Given the description of an element on the screen output the (x, y) to click on. 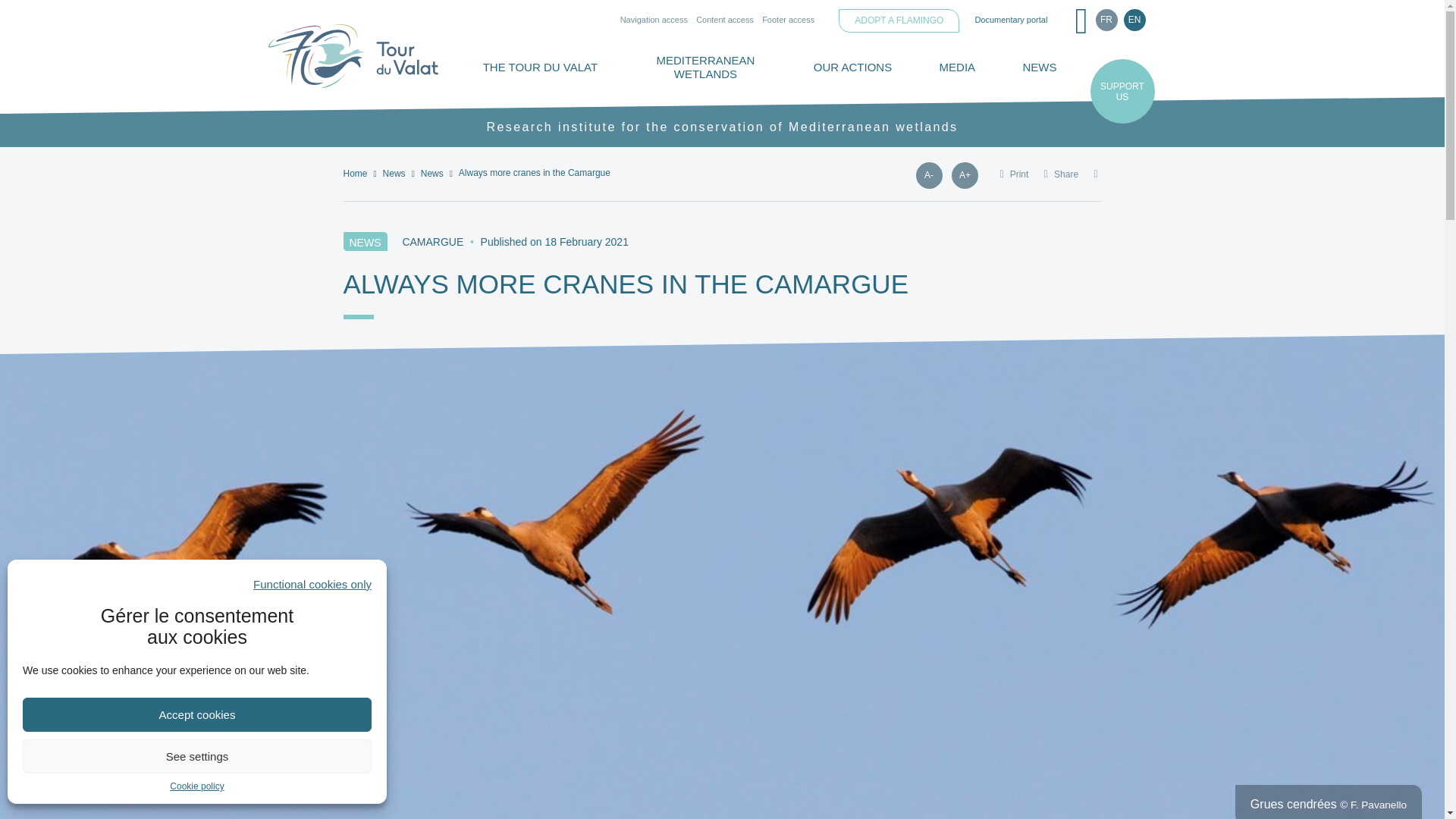
Footer access (787, 19)
Accept cookies (197, 714)
See settings (197, 756)
Content access (724, 19)
Imprimer (1012, 181)
Cookie policy (197, 786)
Show the page Tour du Valat. (354, 172)
THE TOUR DU VALAT (540, 67)
Search (1080, 21)
Functional cookies only (312, 584)
Afficher la page News. (394, 172)
Documentary portal (1010, 19)
Afficher la page News category archives. (431, 172)
MEDITERRANEAN WETLANDS (704, 67)
Navigation access (653, 19)
